Given the description of an element on the screen output the (x, y) to click on. 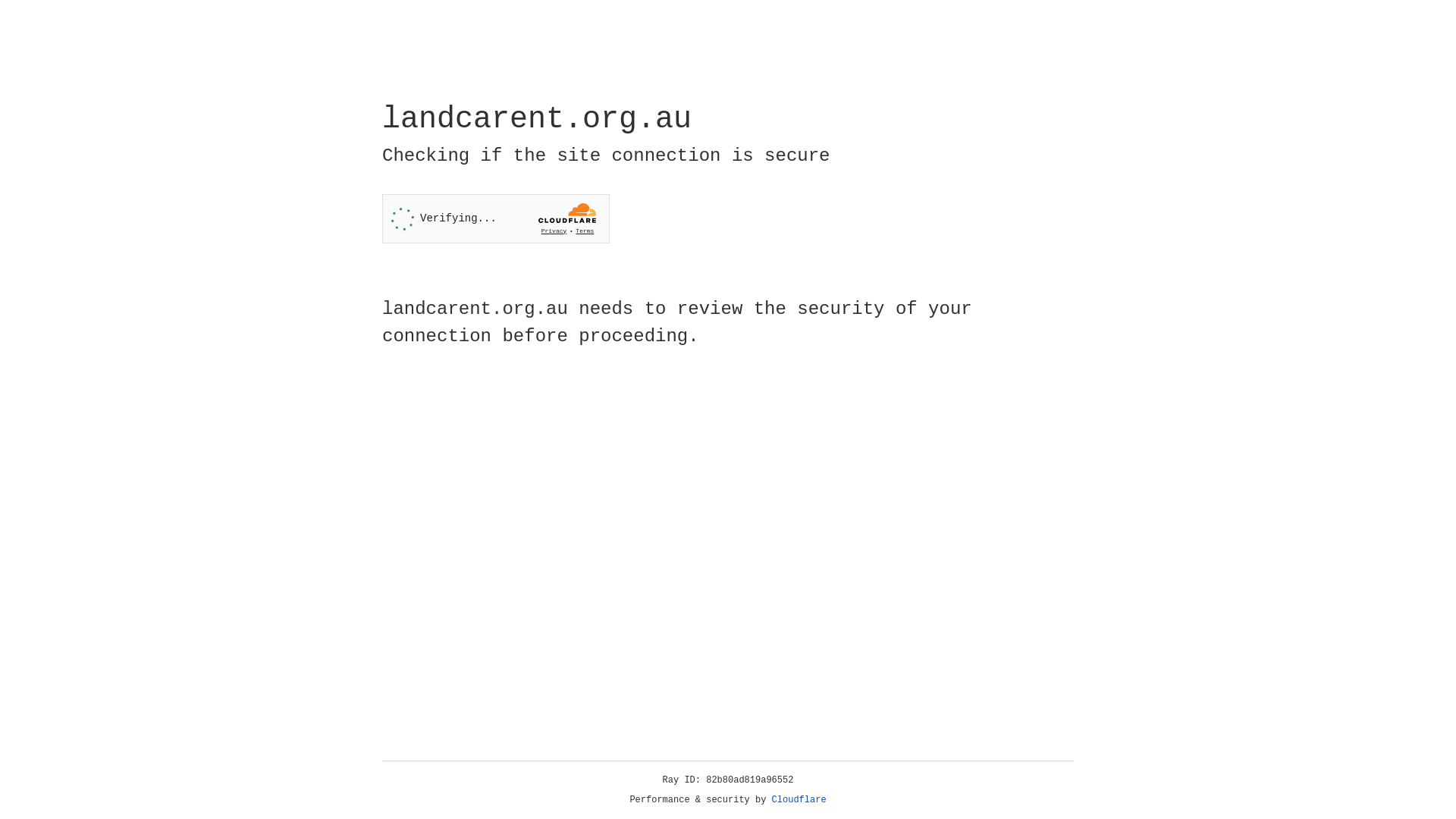
Widget containing a Cloudflare security challenge Element type: hover (495, 218)
Cloudflare Element type: text (798, 799)
